Given the description of an element on the screen output the (x, y) to click on. 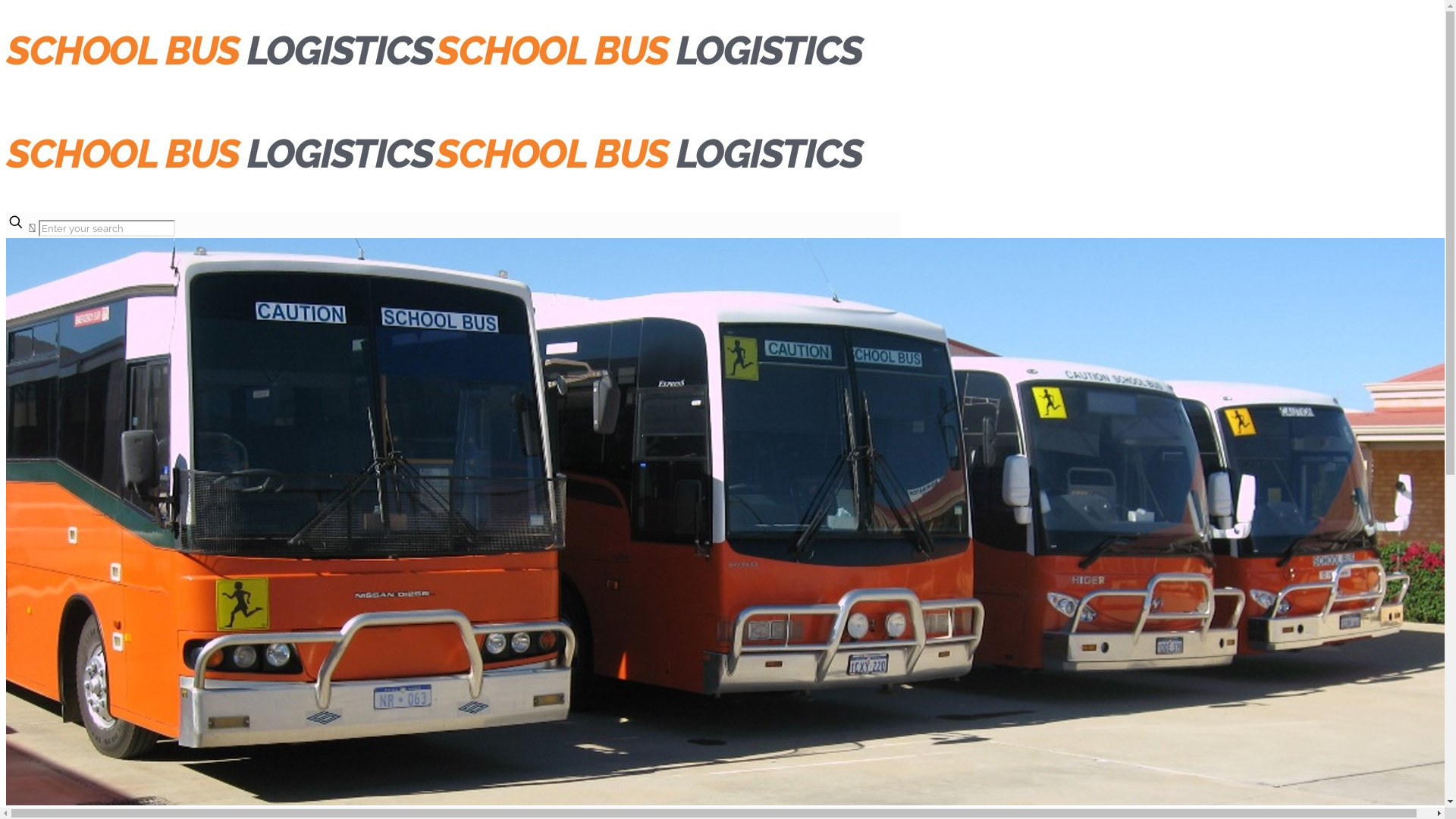
Geraldton Coach Lines Element type: hover (435, 137)
